Given the description of an element on the screen output the (x, y) to click on. 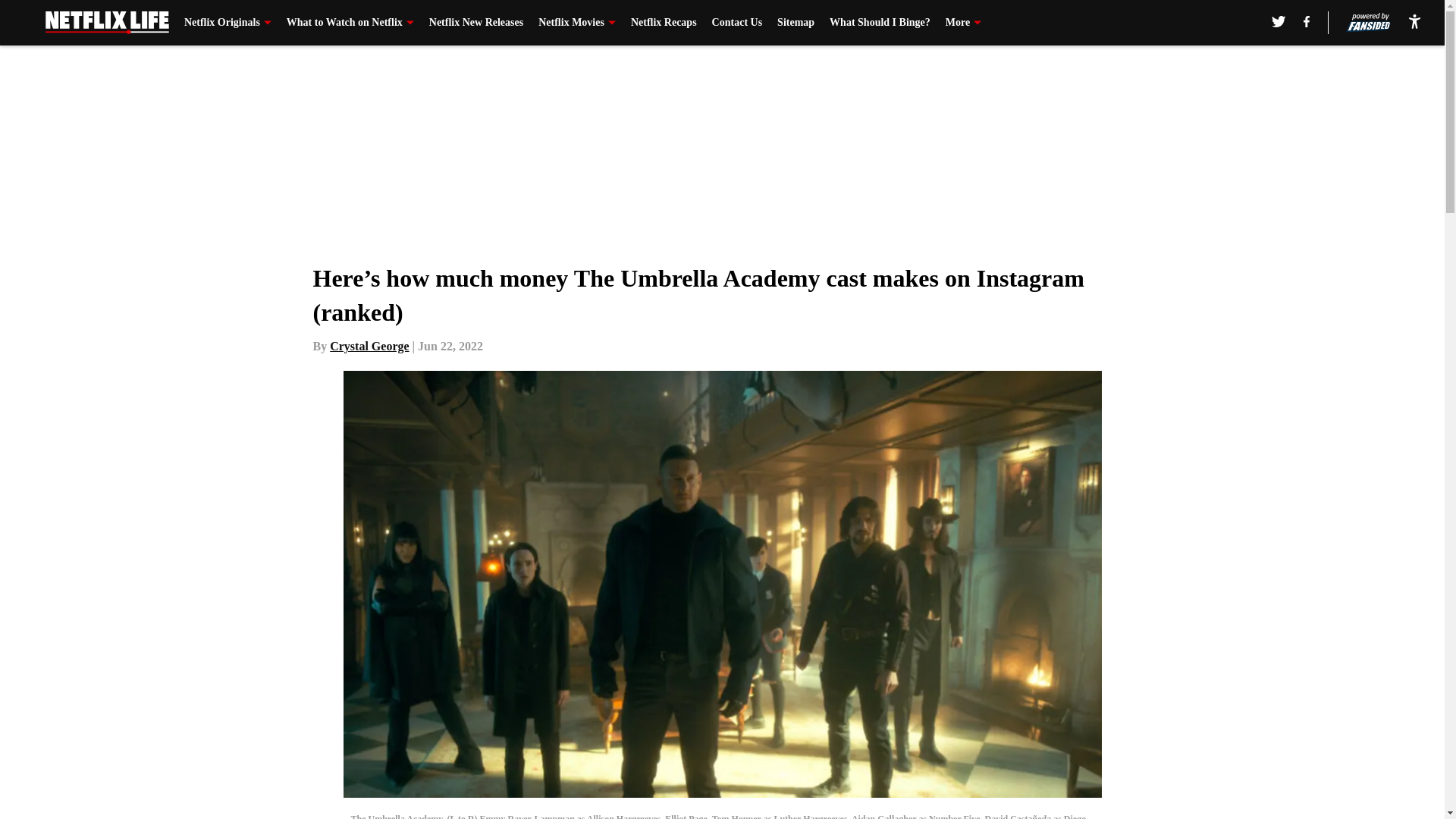
Netflix Originals (227, 22)
What to Watch on Netflix (349, 22)
Netflix New Releases (475, 22)
Netflix Movies (576, 22)
